Given the description of an element on the screen output the (x, y) to click on. 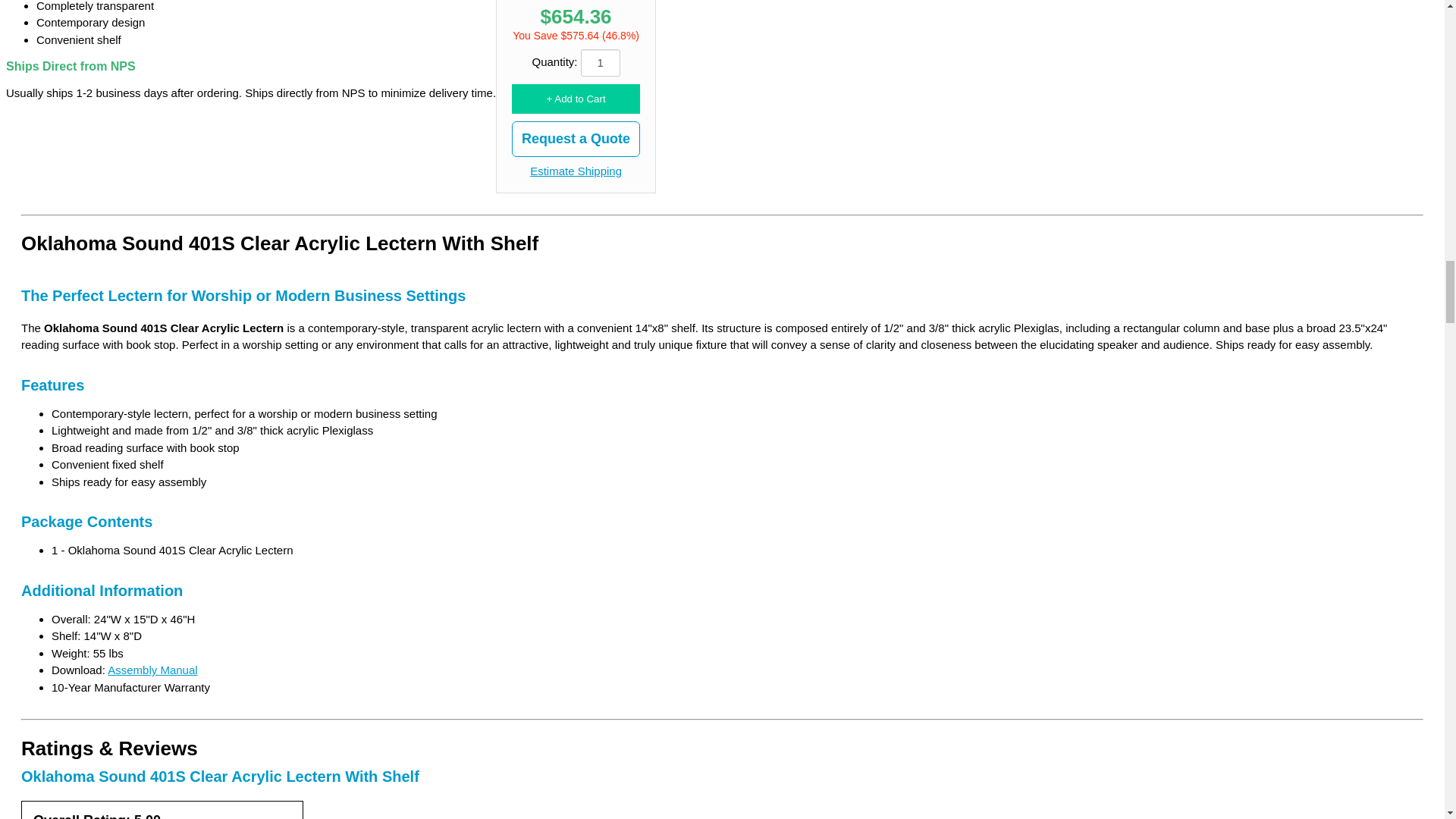
Request a Quote (576, 139)
1 (600, 62)
